Given the description of an element on the screen output the (x, y) to click on. 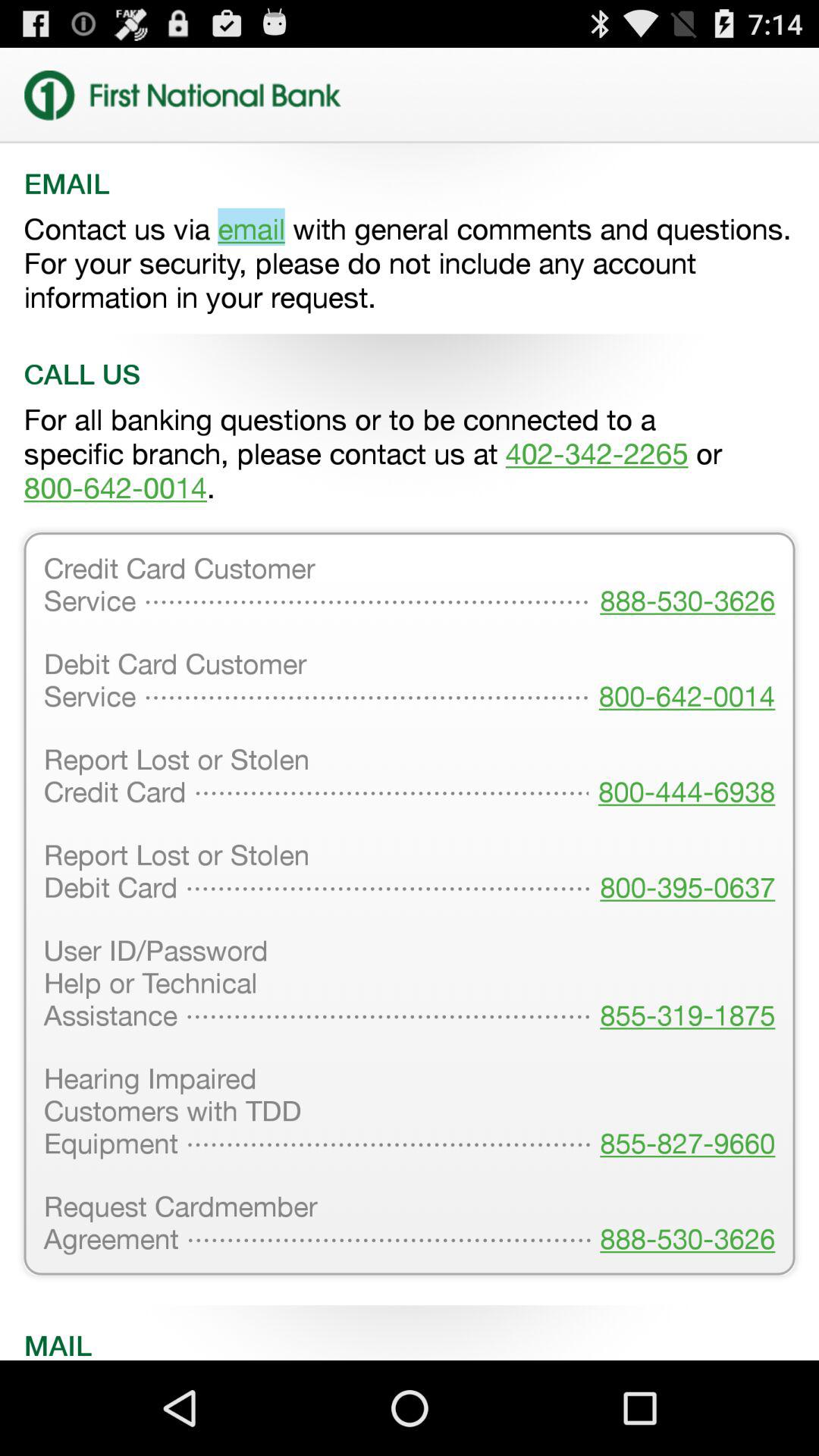
click the item below the call us (409, 453)
